Given the description of an element on the screen output the (x, y) to click on. 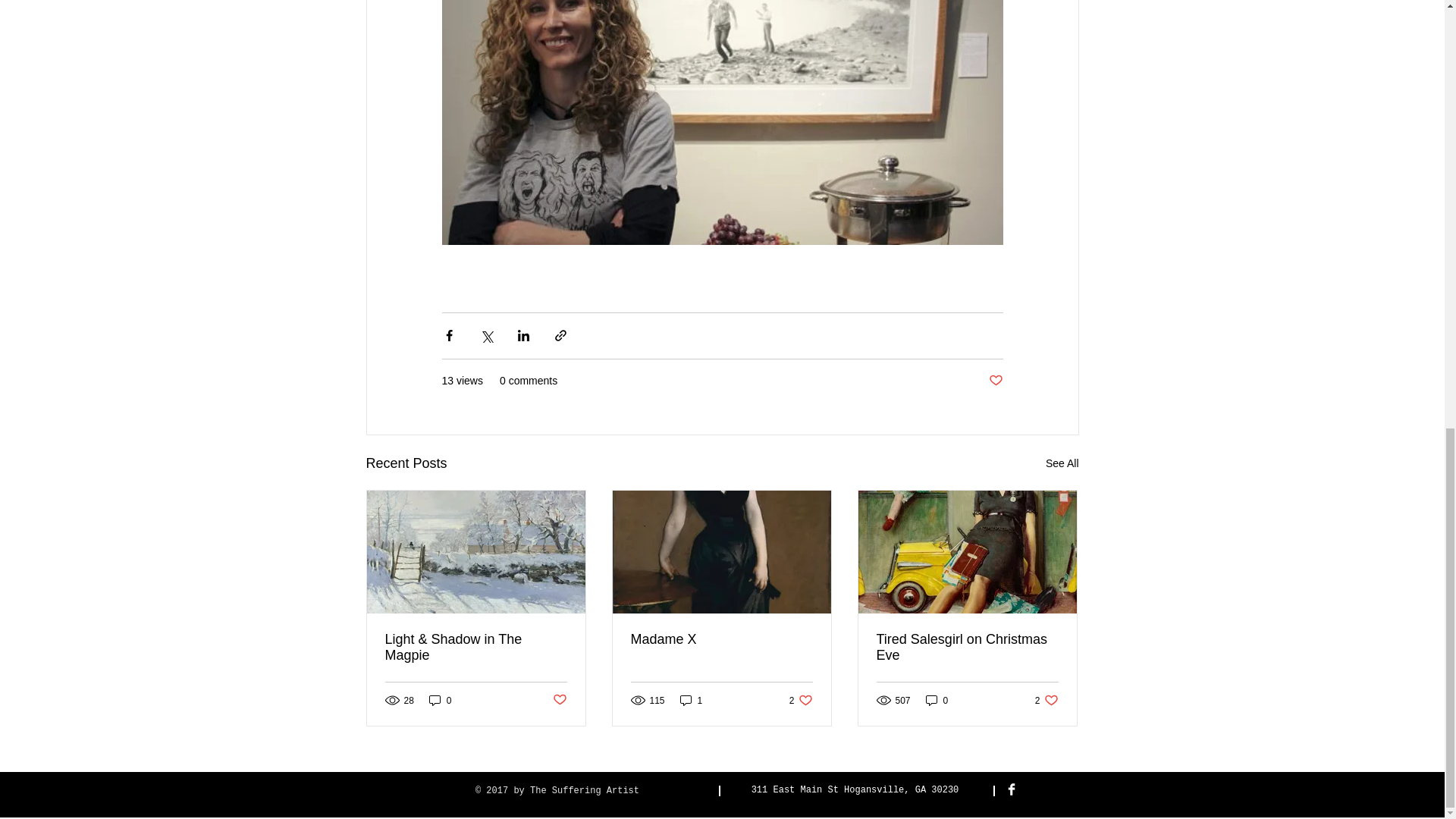
See All (1061, 463)
0 (800, 699)
0 (937, 699)
Tired Salesgirl on Christmas Eve (440, 699)
Post not marked as liked (967, 647)
Post not marked as liked (1046, 699)
Madame X (995, 381)
1 (558, 700)
